Given the description of an element on the screen output the (x, y) to click on. 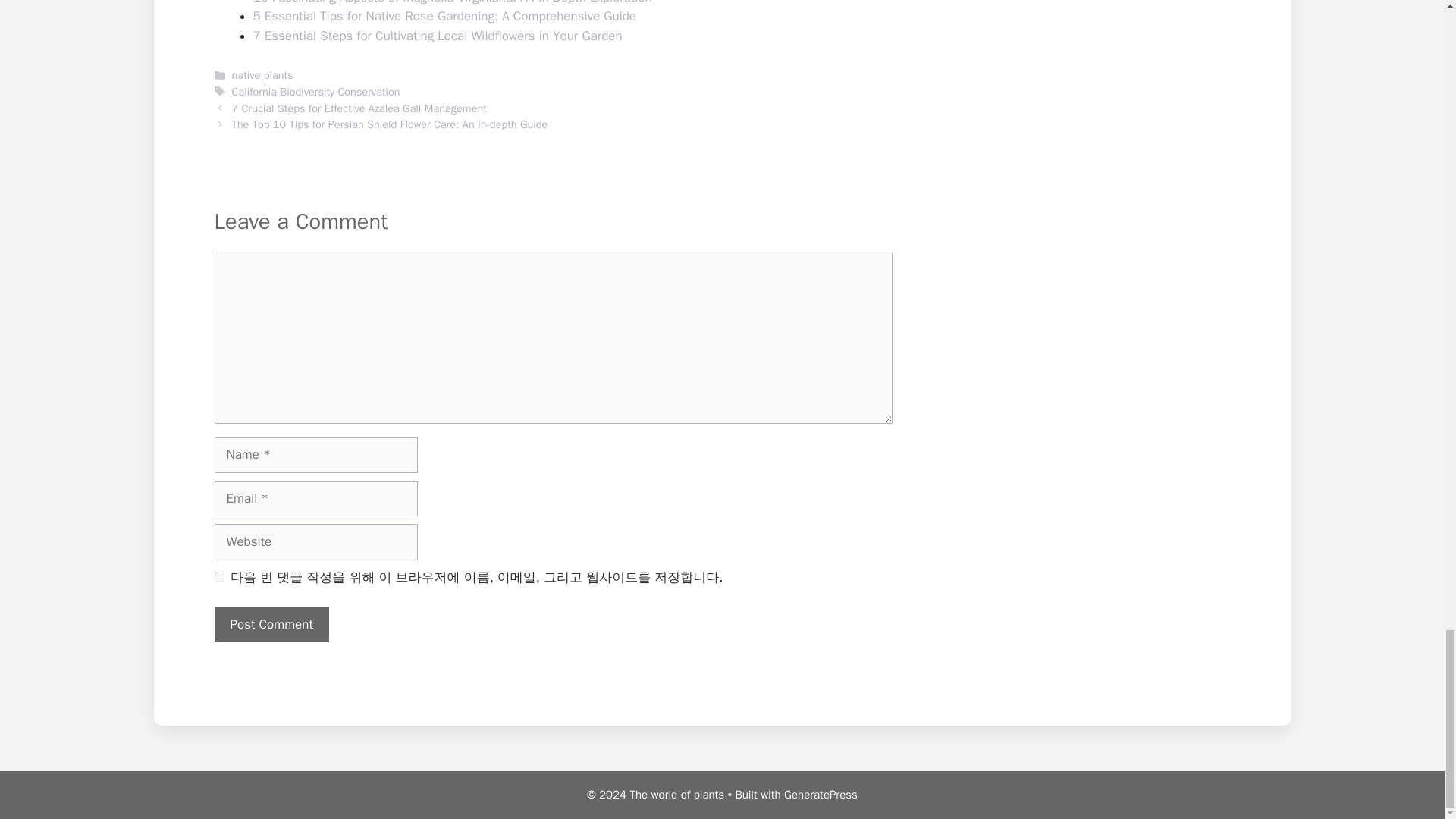
native plants (262, 74)
Post Comment (271, 624)
7 Crucial Steps for Effective Azalea Gall Management (358, 108)
California Biodiversity Conservation (315, 91)
yes (219, 577)
Post Comment (271, 624)
